Given the description of an element on the screen output the (x, y) to click on. 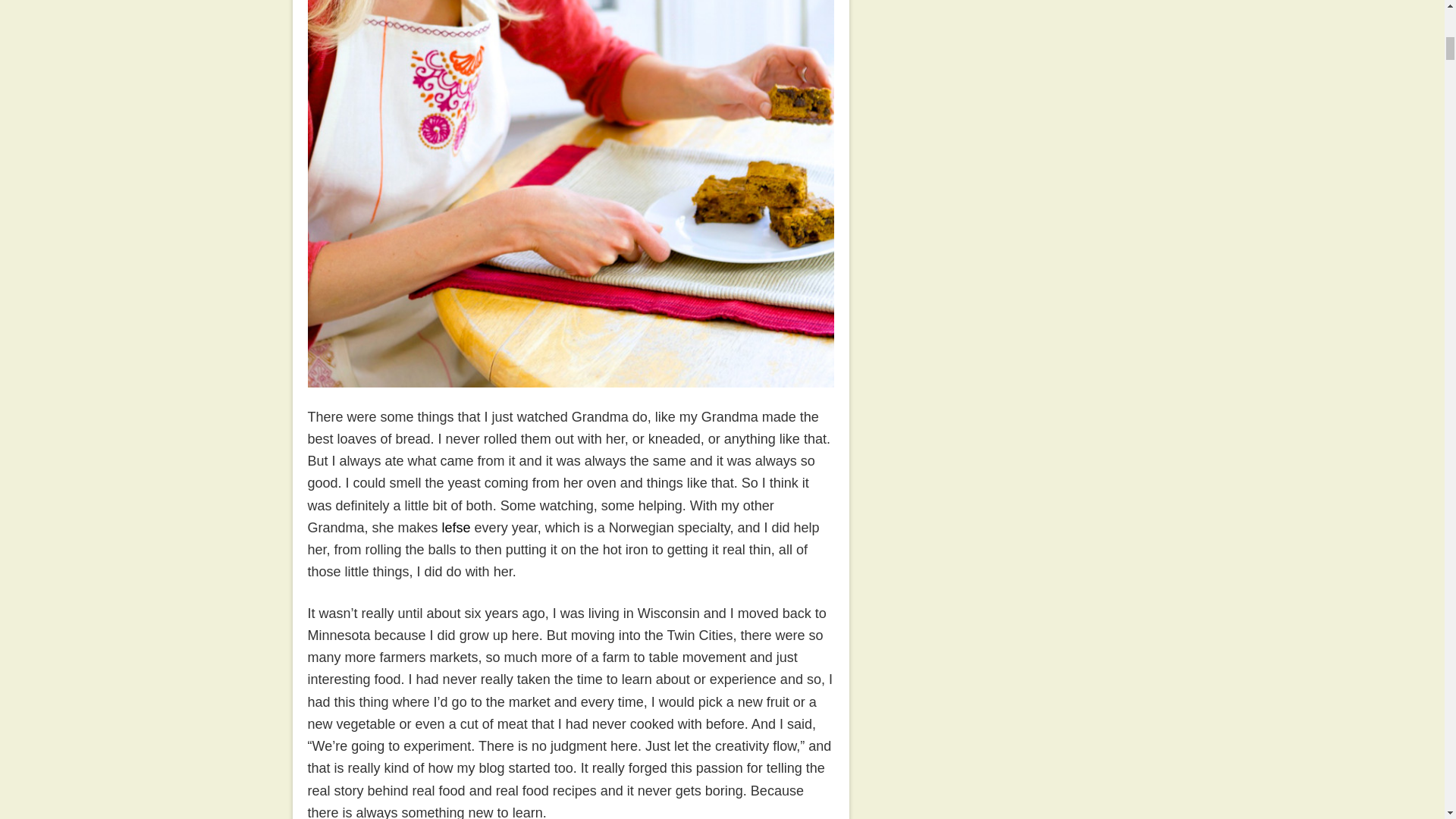
lefse (456, 527)
